Given the description of an element on the screen output the (x, y) to click on. 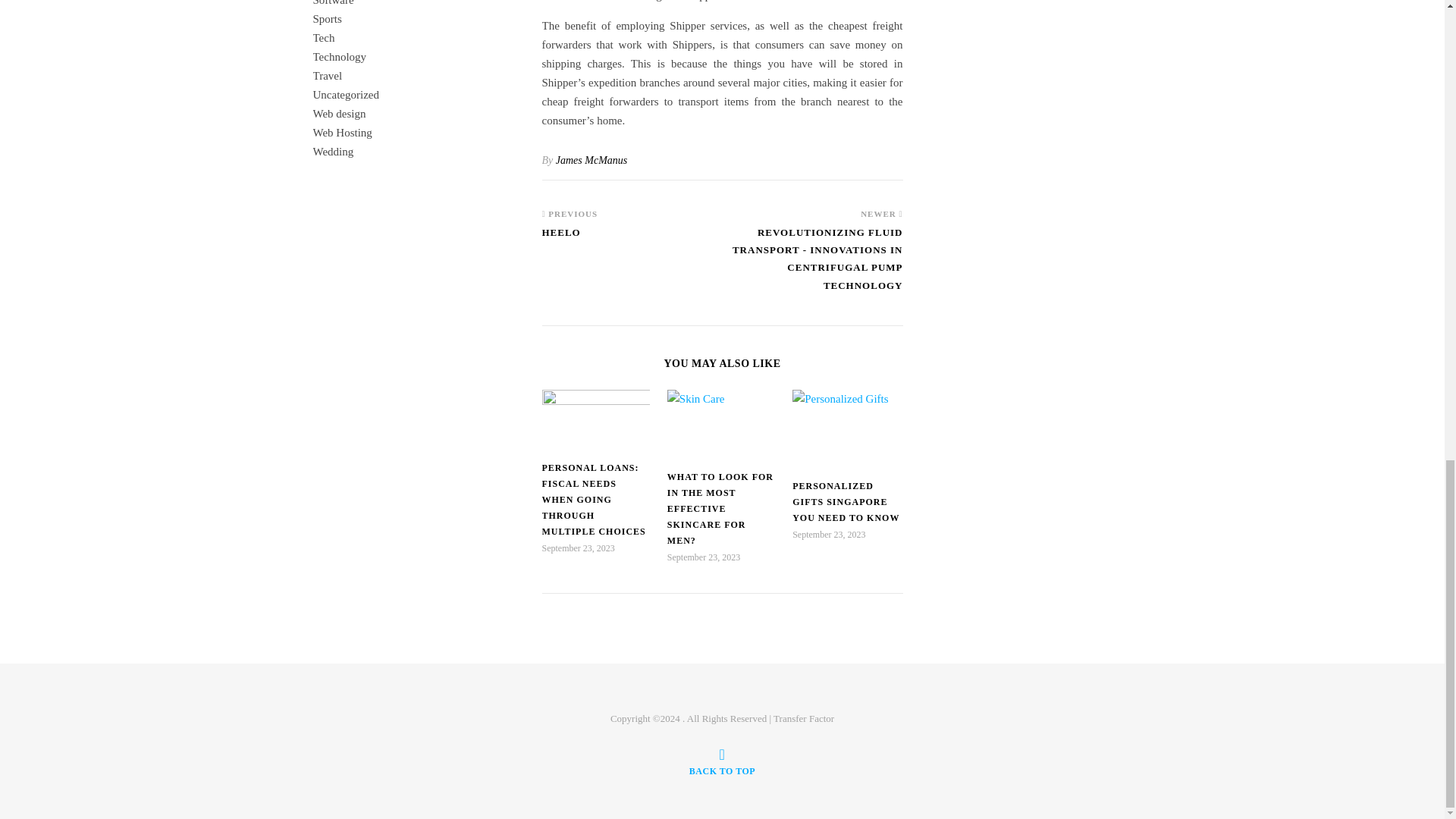
Posts by James McManus (591, 160)
heelo (568, 239)
BACK TO TOP (722, 761)
